Given the description of an element on the screen output the (x, y) to click on. 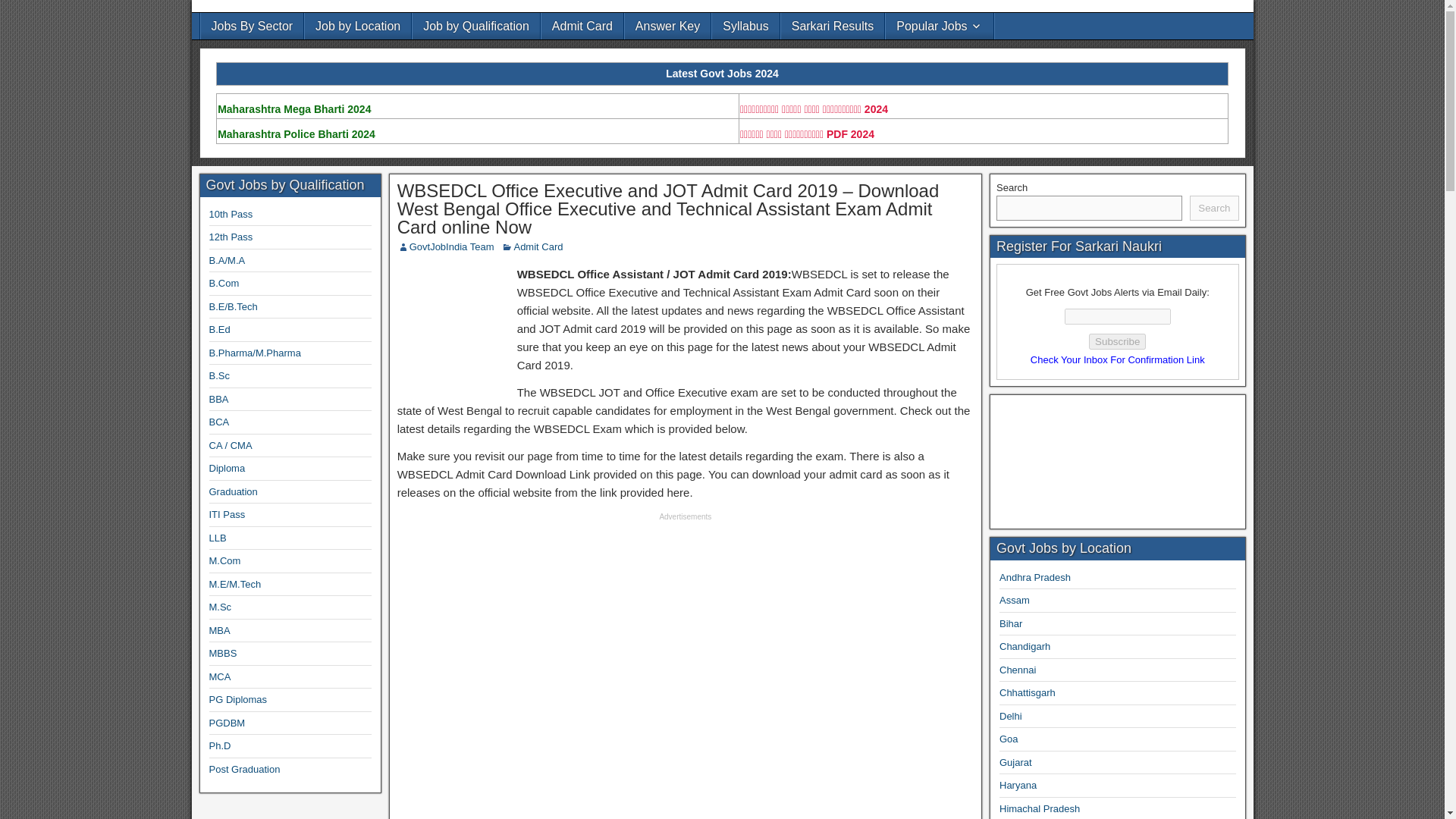
Syllabus (744, 26)
Sarkari Results (831, 26)
Maharashtra Mega Bharti 2024 (293, 109)
Maharashtra Police Bharti 2024 (297, 133)
12th Pass (231, 236)
B.Ed (219, 328)
Jobs By Sector (251, 26)
B.Sc (219, 375)
Admit Card (582, 26)
Job by Location (357, 26)
